Given the description of an element on the screen output the (x, y) to click on. 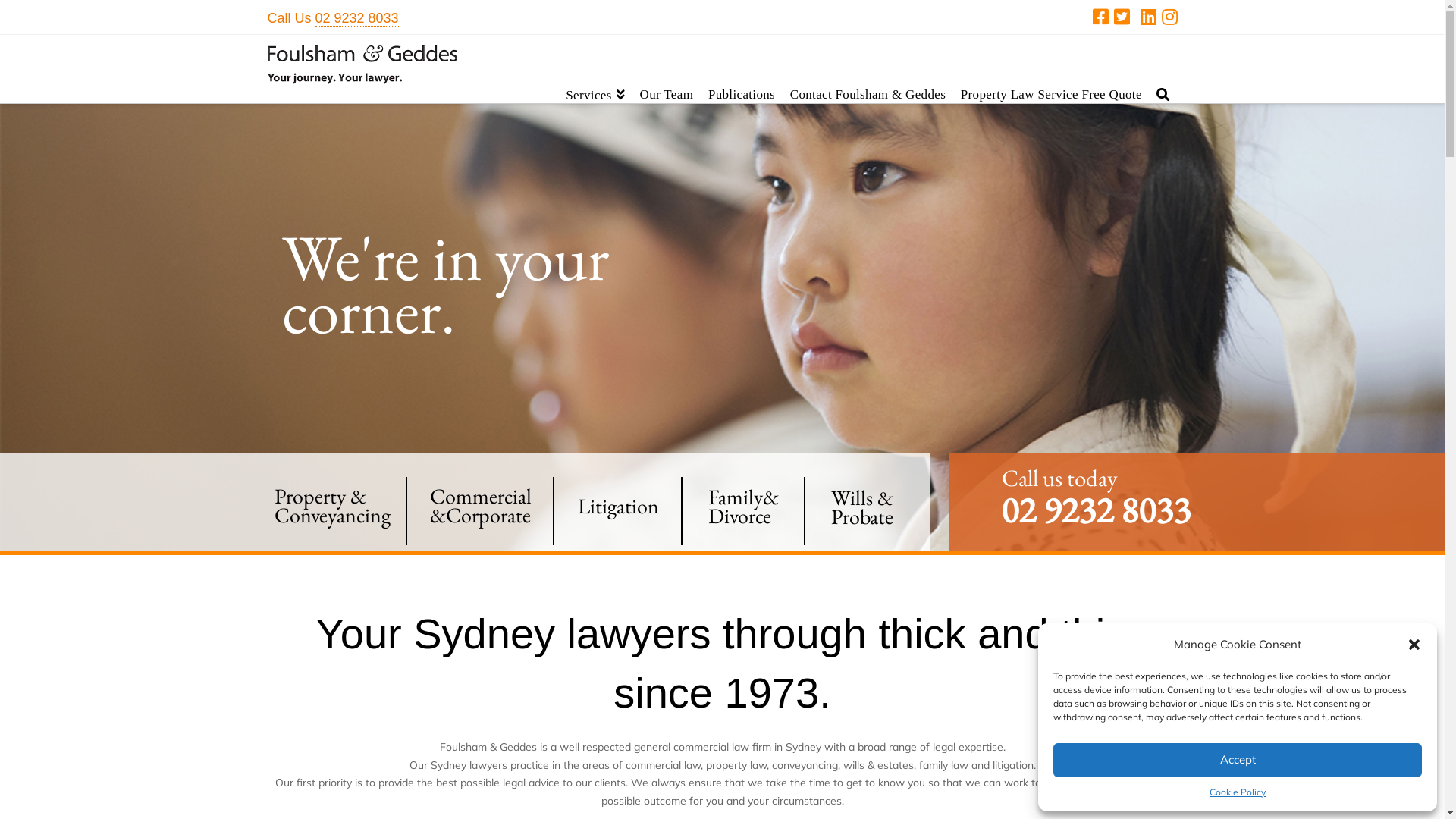
02 9232 8033 Element type: text (1097, 525)
Accept Element type: text (1237, 760)
02 9232 8033 Element type: text (356, 18)
Property Law Service Free Quote Element type: text (1051, 68)
Our Team Element type: text (666, 68)
Cookie Policy Element type: text (1237, 792)
Instagram Element type: hover (1169, 16)
Services Element type: text (594, 68)
Facebook Element type: hover (1099, 16)
Litigation Element type: text (617, 505)
Property &
Conveyancing Element type: text (332, 505)
Toggle the Widgetbar Element type: text (1429, 14)
Contact Foulsham & Geddes Element type: text (867, 68)
Publications Element type: text (741, 68)
Family&
Divorce Element type: text (743, 506)
LinkedIn Element type: hover (1148, 16)
Wills &
Probate Element type: text (862, 507)
Twitter Element type: hover (1121, 16)
Commercial
&Corporate Element type: text (479, 505)
